Given the description of an element on the screen output the (x, y) to click on. 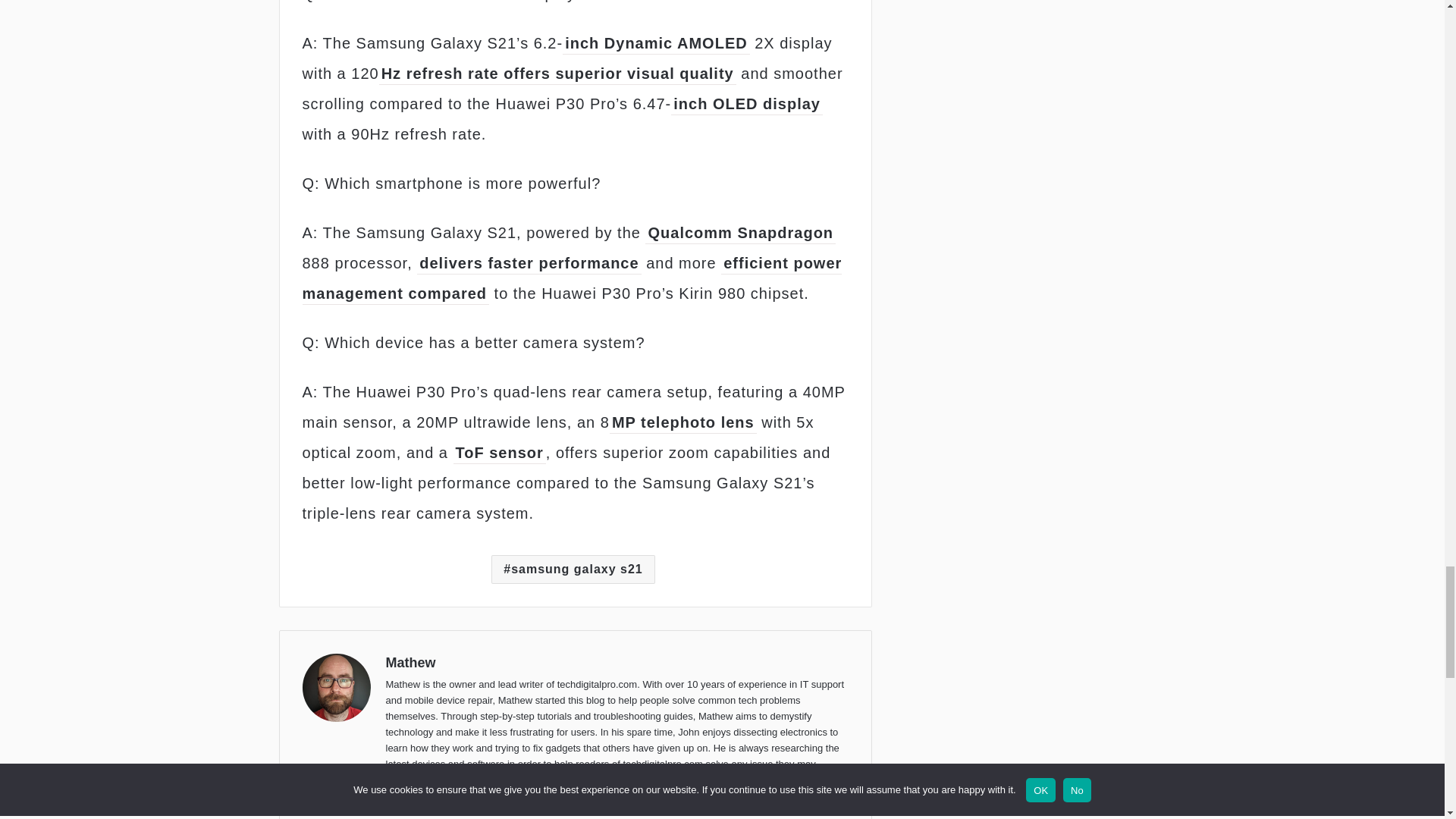
Mathew (410, 662)
Website (394, 804)
samsung galaxy s21 (573, 569)
